Given the description of an element on the screen output the (x, y) to click on. 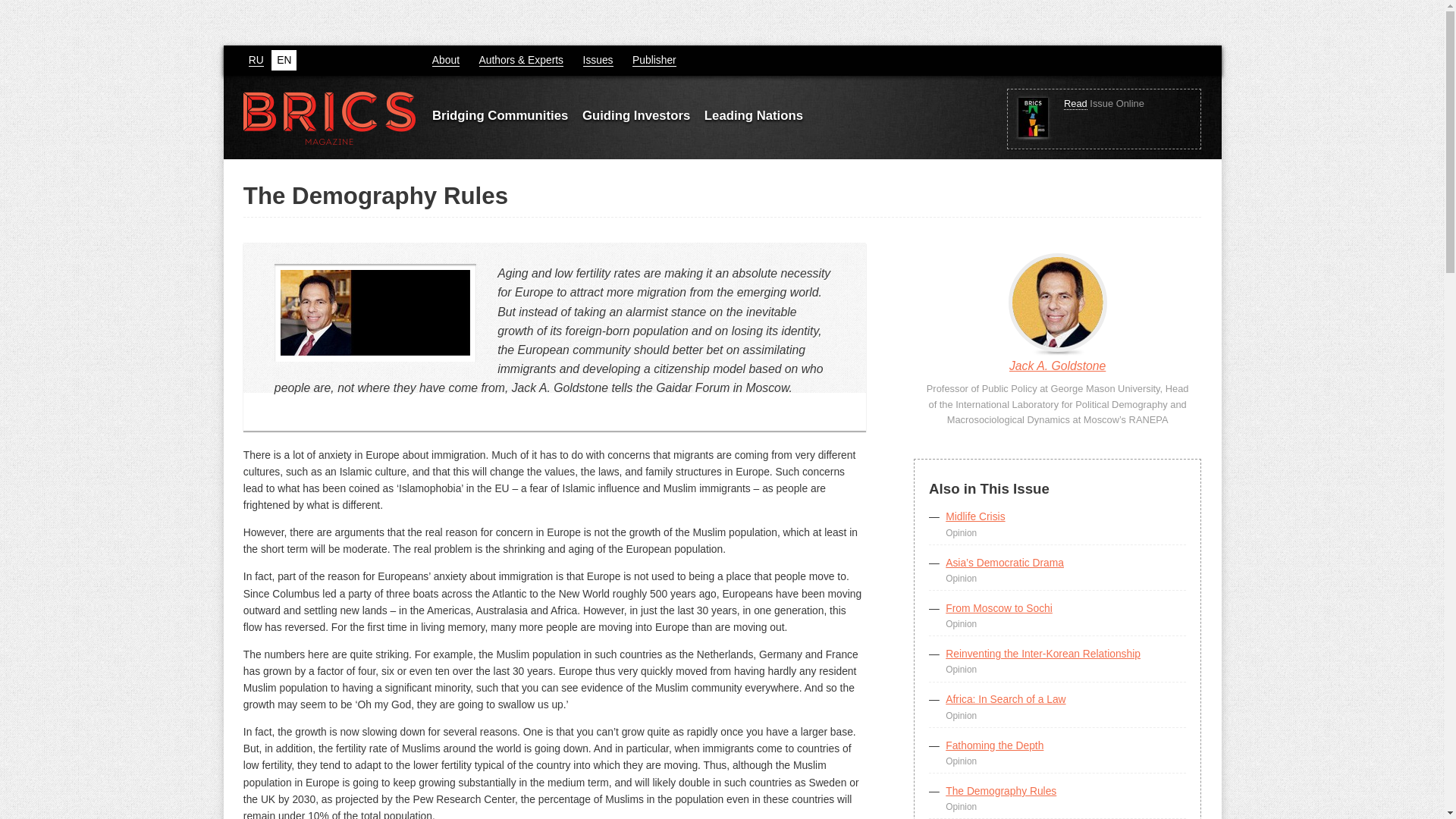
Jack A. Goldstone (1057, 368)
About (446, 60)
Guiding Investors (636, 114)
Fathoming the Depth (993, 745)
Read (1075, 103)
RU (255, 60)
Publisher (654, 60)
From Moscow to Sochi (998, 607)
Midlife Crisis (974, 516)
The Demography Rules (1000, 790)
